Given the description of an element on the screen output the (x, y) to click on. 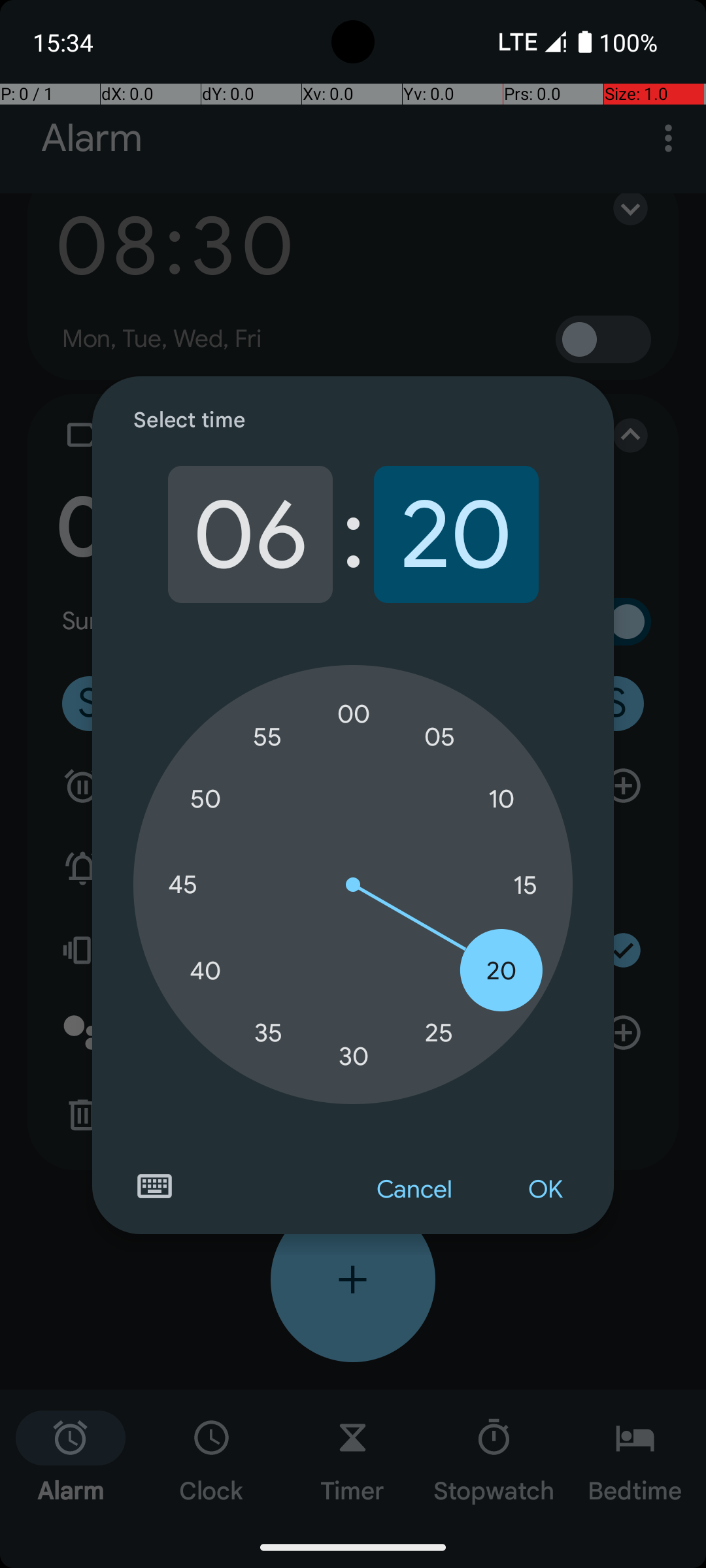
06 Element type: android.view.View (250, 534)
